Given the description of an element on the screen output the (x, y) to click on. 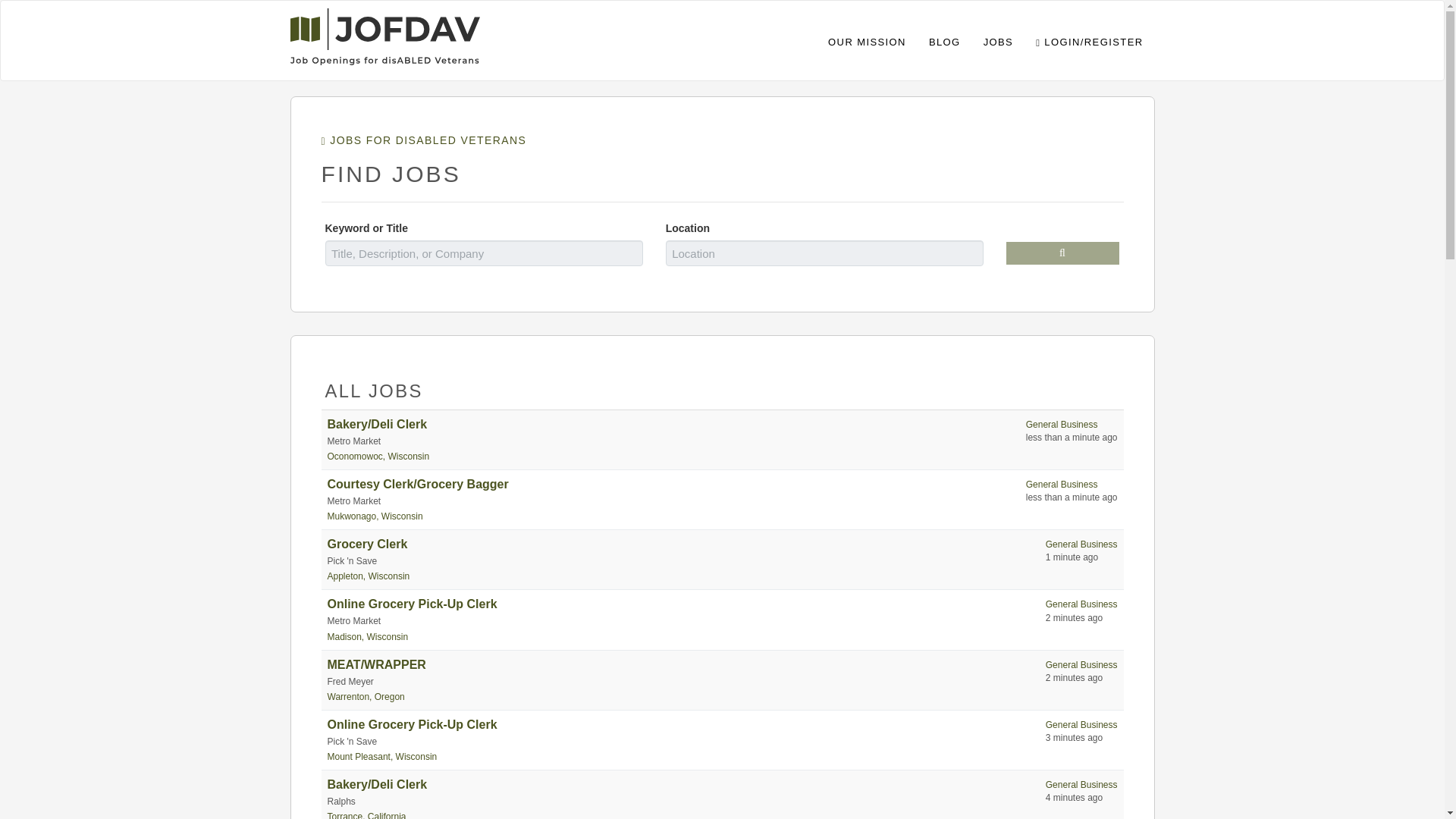
Oconomowoc, Wisconsin (378, 456)
Torrance, California (366, 815)
Online Grocery Pick-Up Clerk (412, 603)
General Business (1081, 543)
General Business (1081, 665)
Appleton, Wisconsin (368, 575)
General Business (1081, 603)
General Business (1061, 484)
OUR MISSION (866, 40)
GO TO HOMEPAGE (384, 32)
